Given the description of an element on the screen output the (x, y) to click on. 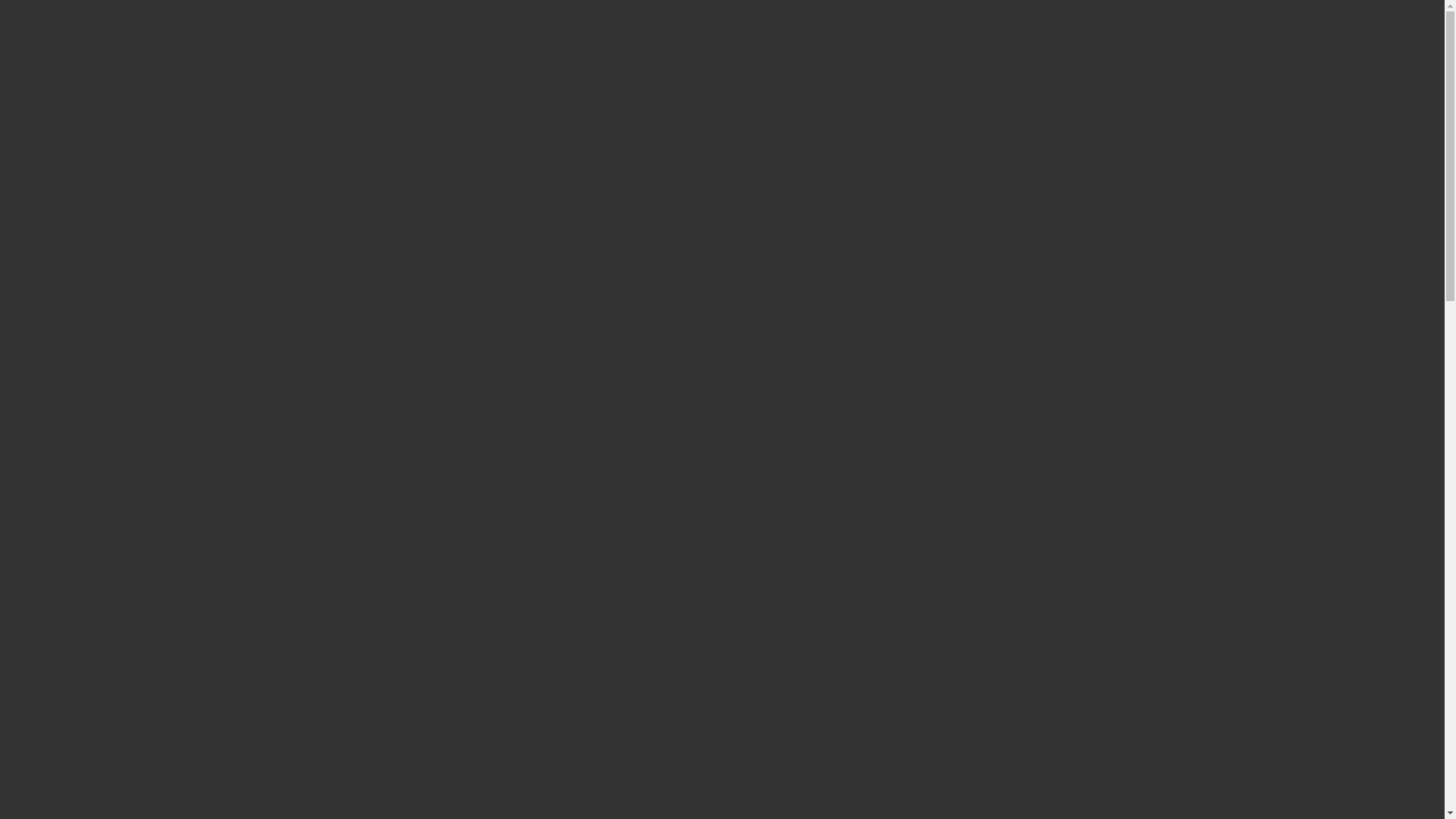
ALICE Element type: text (980, 529)
View on CDS Element type: hover (955, 348)
CERN Accelerating science Element type: text (142, 14)
|
EN Element type: text (1348, 43)
NEWS Element type: text (1040, 43)
ultrahigh vacuum Element type: text (964, 202)
View on CDS Element type: hover (488, 168)
Sign in Element type: text (1301, 14)
particle accelerator Element type: text (710, 108)
SEARCH Element type: text (1286, 43)
ATLAS Element type: text (916, 529)
ABOUT Element type: text (976, 43)
RESOURCES Element type: text (1192, 43)
LHCb. Element type: text (1034, 529)
SCIENCE Element type: text (1107, 43)
particle detectors Element type: text (845, 529)
accelerator complex Element type: text (378, 125)
Skip to main content Element type: text (0, 0)
Home Element type: hover (122, 23)
superconducting electromagnets Element type: text (911, 228)
CMS Element type: text (949, 529)
a temperature colder than outer space Element type: text (907, 280)
Directory Element type: text (1351, 14)
